Given the description of an element on the screen output the (x, y) to click on. 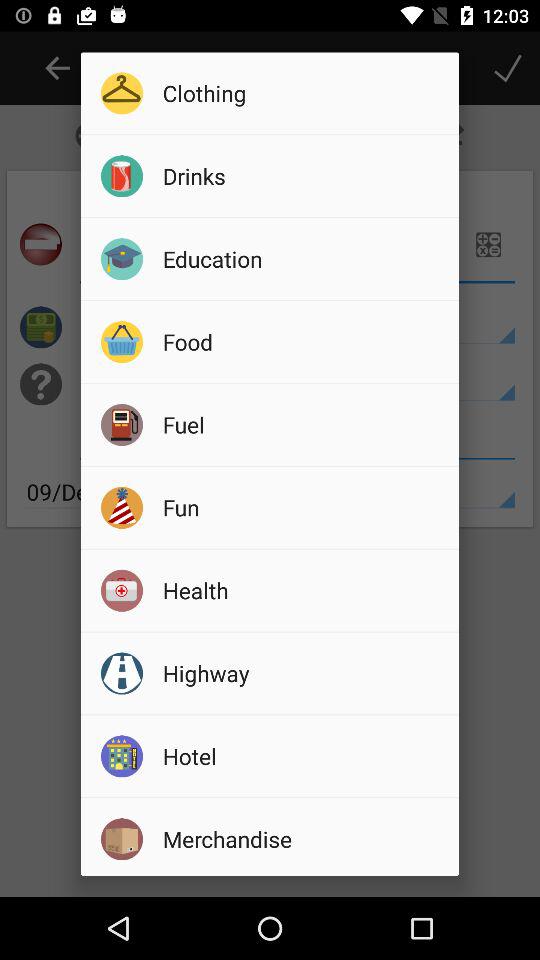
launch item below the health (303, 673)
